Given the description of an element on the screen output the (x, y) to click on. 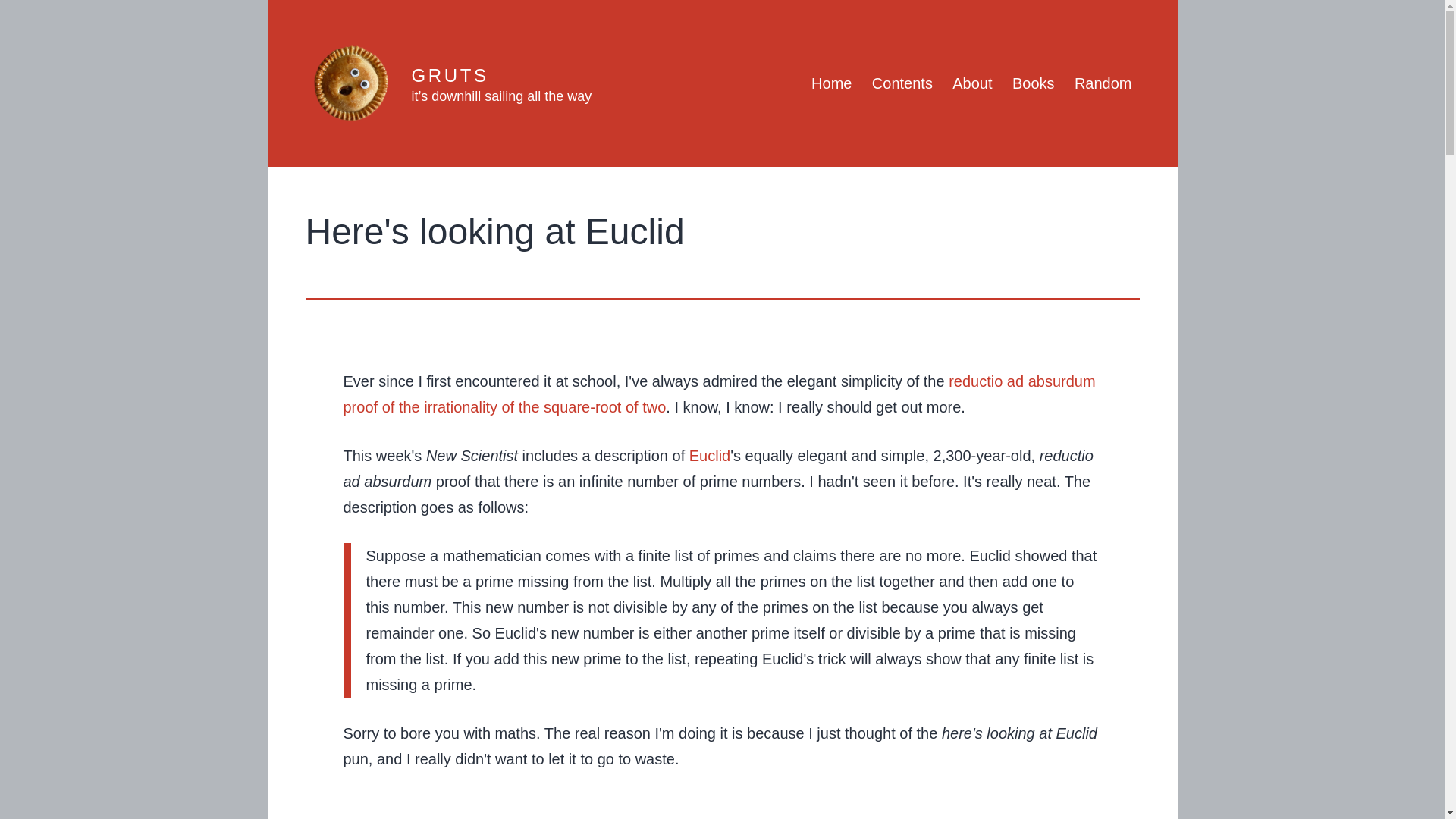
reductio ad absurdum (1021, 381)
Euclid (709, 455)
Random Gruts post (1102, 82)
Wikipedia: 'Square root of 2 - Proof of irrationality' (503, 406)
Book reviews (1033, 82)
Random (1102, 82)
Books (1033, 82)
Home (831, 82)
proof of the irrationality of the square-root of two (503, 406)
Wikipedia: 'Euclid' (709, 455)
